Given the description of an element on the screen output the (x, y) to click on. 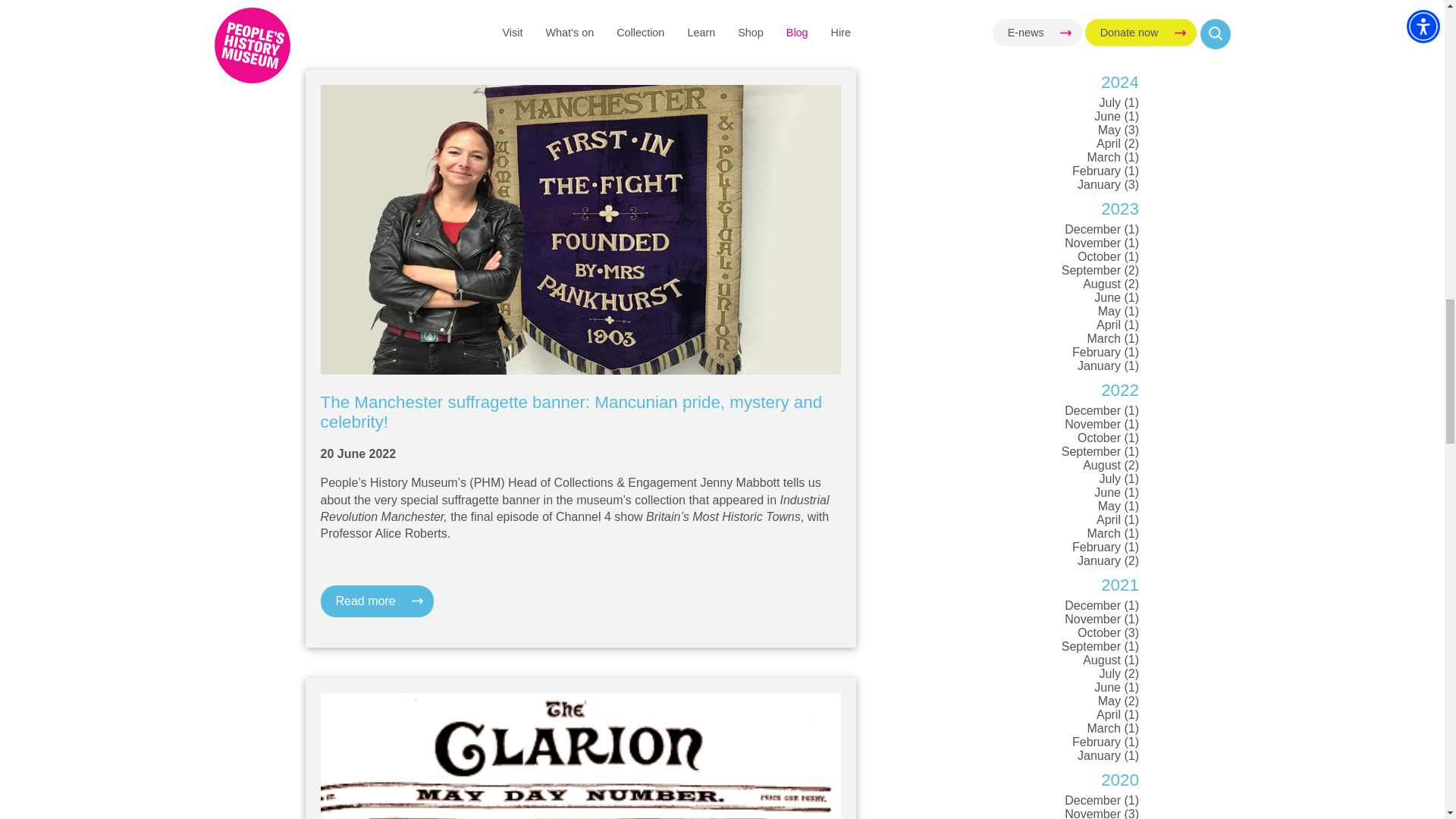
Read more (376, 601)
Read more (376, 4)
